Given the description of an element on the screen output the (x, y) to click on. 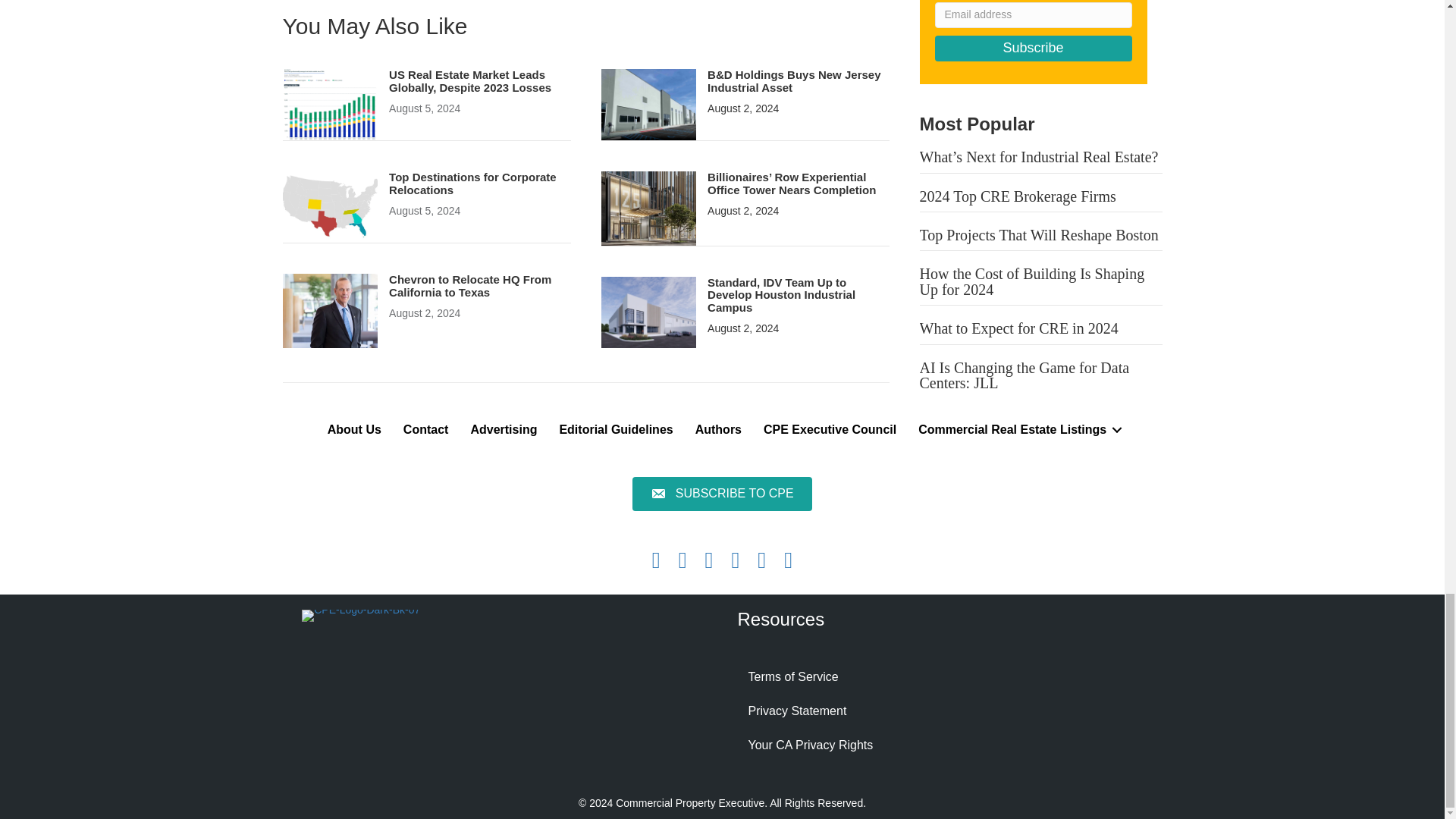
Chevron to Relocate HQ From California to Texas (329, 309)
Standard, IDV Team Up to Develop Houston Industrial Campus (647, 311)
Chevron to Relocate HQ From California to Texas (469, 285)
US Real Estate Market Leads Globally, Despite 2023 Losses (469, 80)
Top Destinations for Corporate Relocations (329, 205)
US Real Estate Market Leads Globally, Despite 2023 Losses (329, 103)
Top Destinations for Corporate Relocations (472, 183)
